Given the description of an element on the screen output the (x, y) to click on. 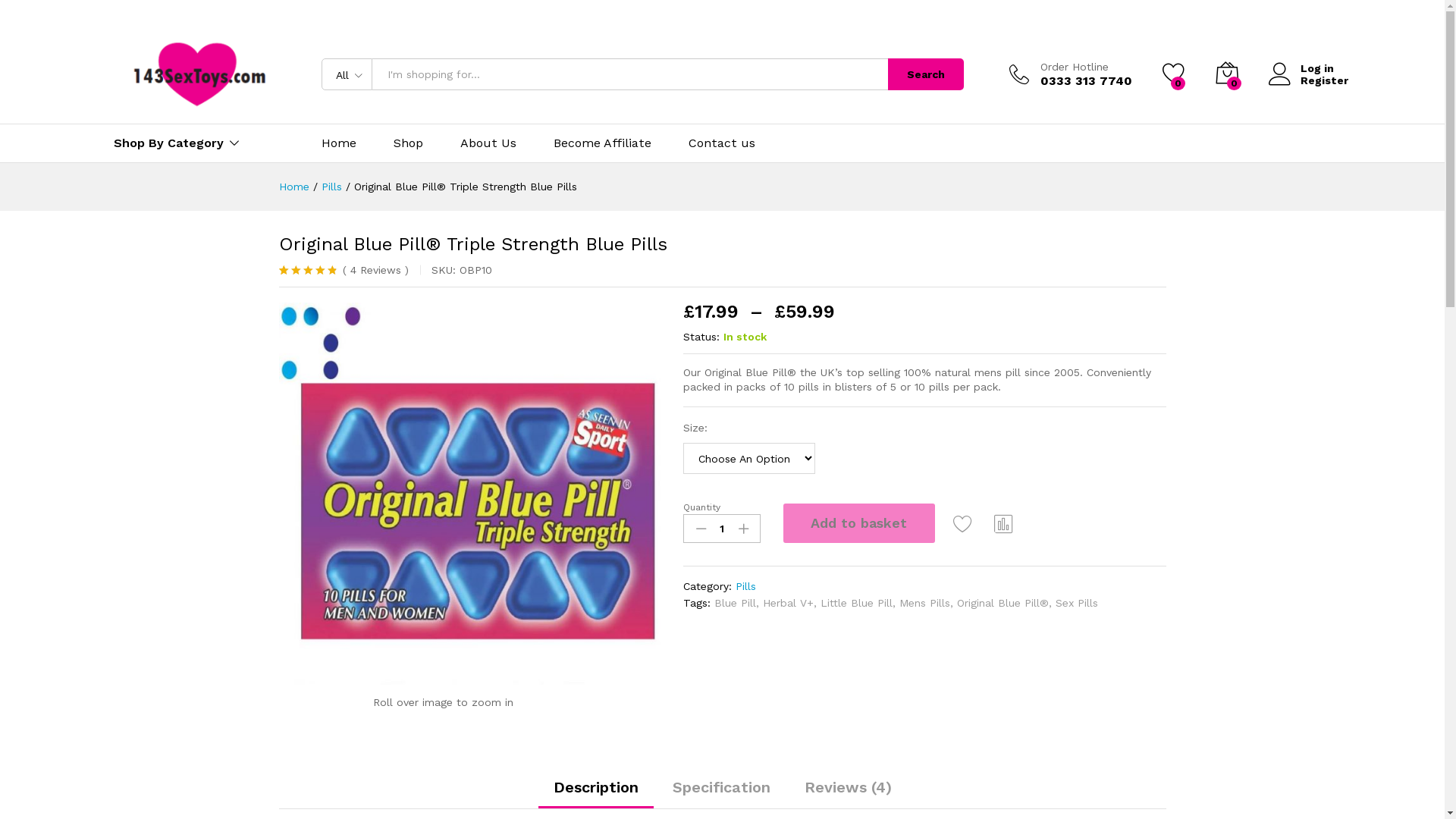
Qty Element type: hover (721, 528)
Reviews (4) Element type: text (847, 786)
About Us Element type: text (488, 143)
Herbal V+ Element type: text (787, 602)
Pills Element type: text (331, 186)
Blue Pill Element type: text (735, 602)
Add to wishlist Element type: text (962, 523)
Home Element type: text (338, 143)
Add to basket Element type: text (859, 522)
Compare Element type: text (1003, 523)
Home Element type: text (294, 186)
Pills Element type: text (745, 586)
Little Blue Pill Element type: text (856, 602)
Description Element type: text (595, 786)
Shop Element type: text (408, 143)
143 OBP 1000x1000 Element type: hover (469, 493)
0 Element type: text (1225, 74)
Register Element type: text (1307, 80)
Contact us Element type: text (721, 143)
Specification Element type: text (720, 786)
Become Affiliate Element type: text (602, 143)
Search Element type: text (925, 74)
Mens Pills Element type: text (924, 602)
Sex Pills Element type: text (1076, 602)
Log in Element type: text (1307, 68)
0 Element type: text (1172, 74)
( 4 Reviews ) Element type: text (372, 269)
